Given the description of an element on the screen output the (x, y) to click on. 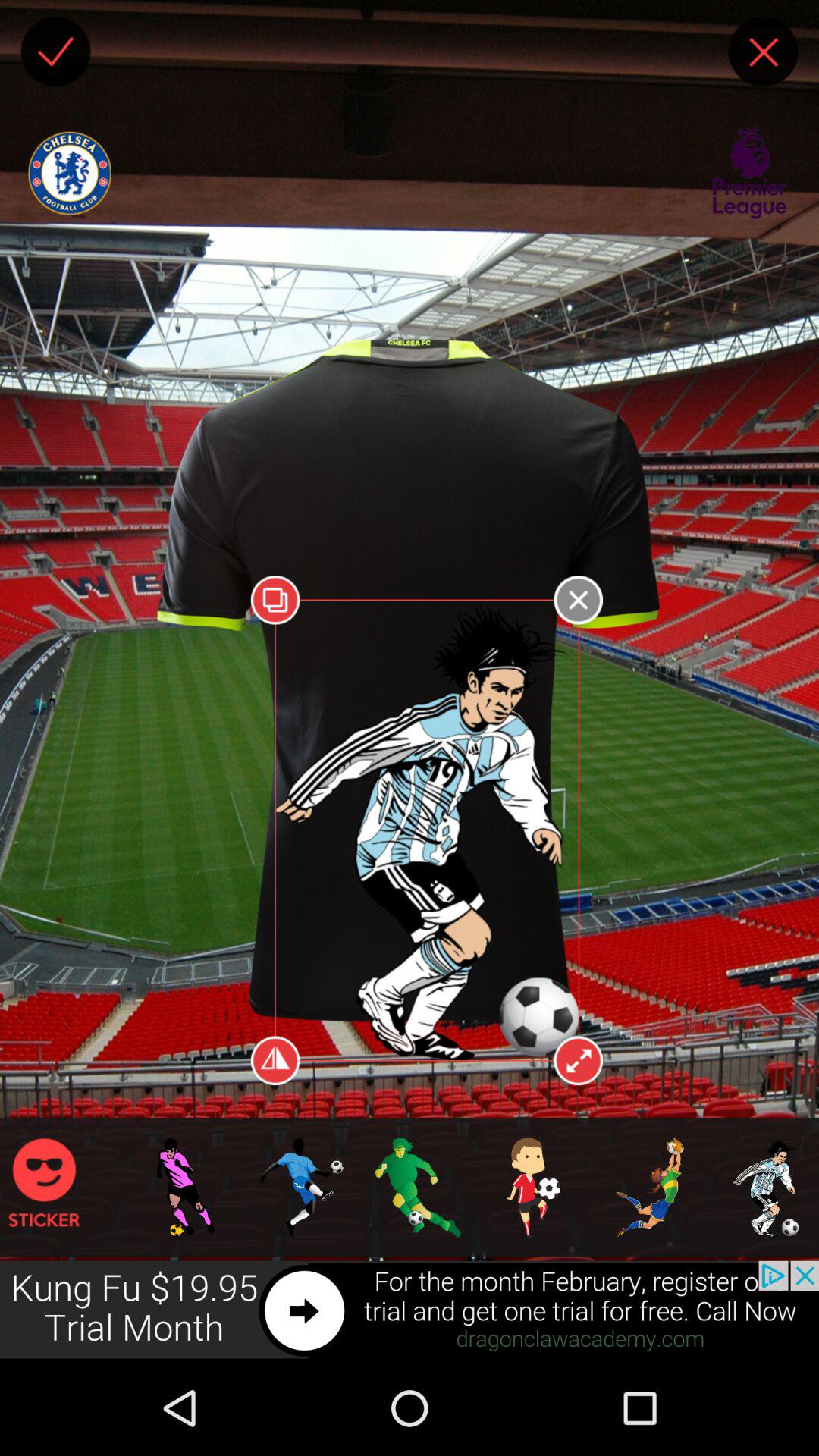
new advertisement open box (409, 1310)
